Given the description of an element on the screen output the (x, y) to click on. 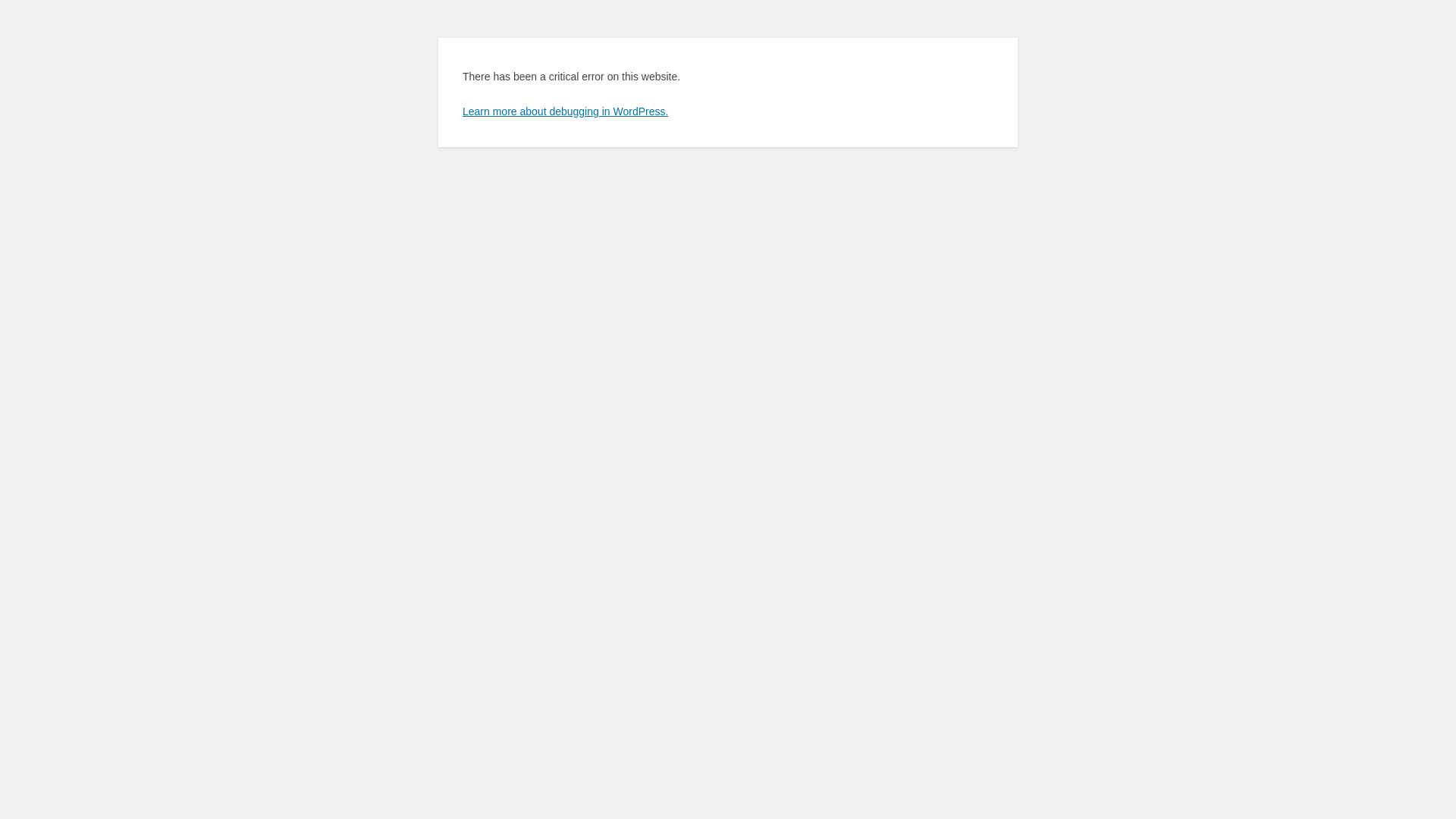
Learn more about debugging in WordPress. Element type: text (565, 111)
